Given the description of an element on the screen output the (x, y) to click on. 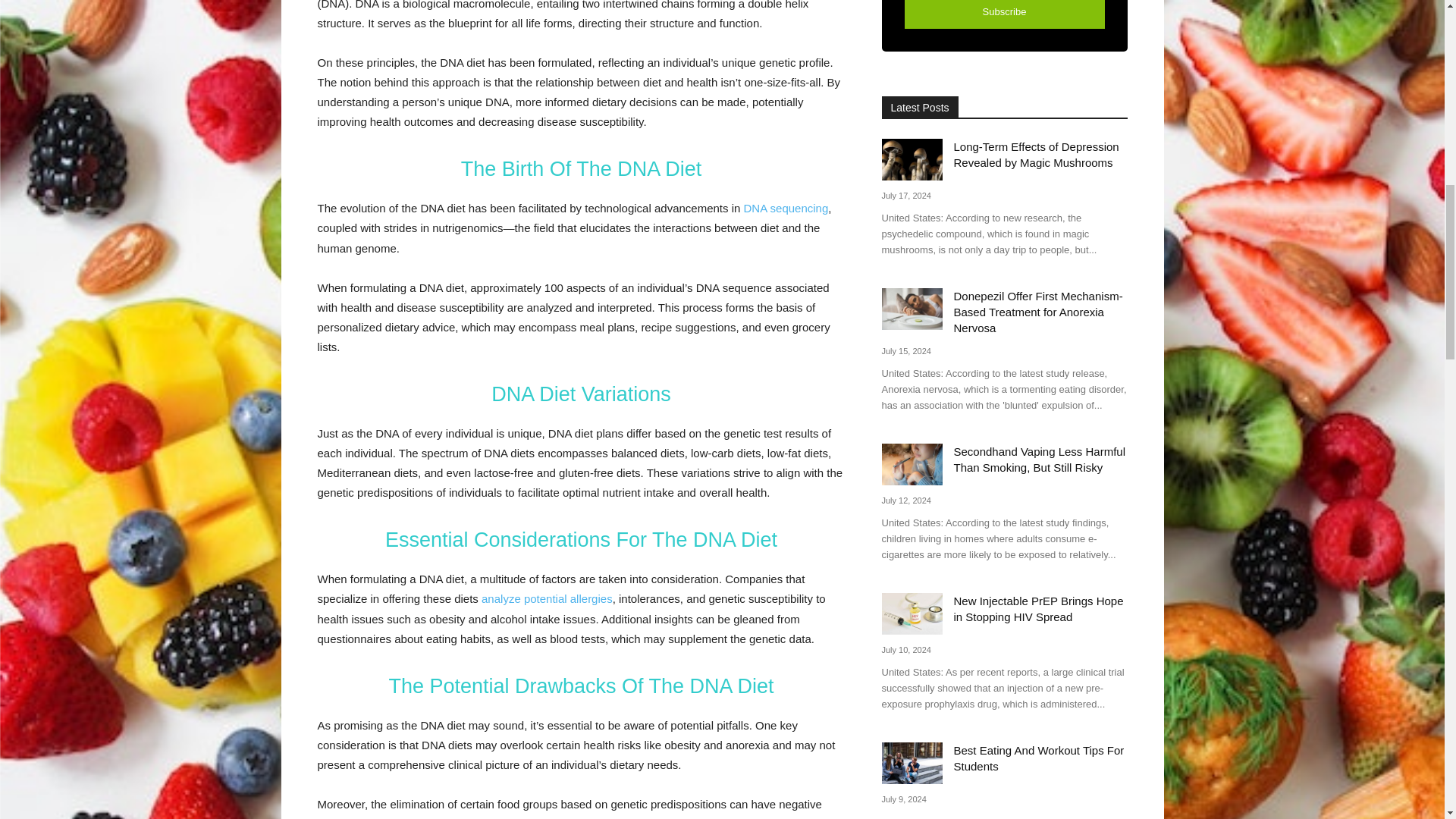
DNA sequencing (786, 207)
analyze potential allergies (546, 598)
Subscribe (1003, 14)
